Given the description of an element on the screen output the (x, y) to click on. 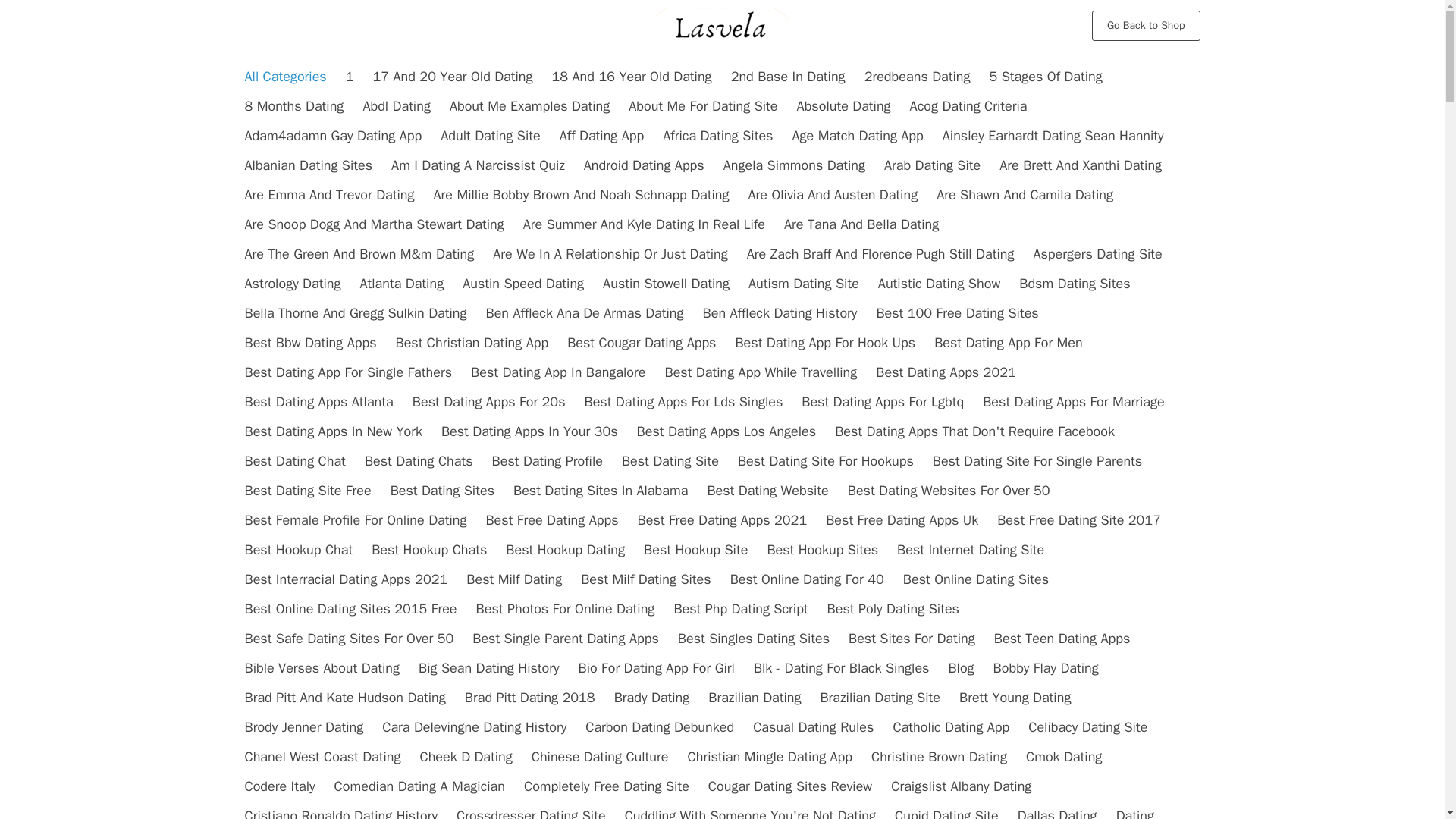
Absolute Dating (843, 106)
Are Shawn And Camila Dating (1024, 194)
Are Tana And Bella Dating (861, 224)
Africa Dating Sites (717, 135)
All Categories (285, 76)
Are Olivia And Austen Dating (833, 194)
Acog Dating Criteria (968, 106)
Albanian Dating Sites (308, 165)
Astrology Dating (292, 283)
Are Summer And Kyle Dating In Real Life (643, 224)
